Given the description of an element on the screen output the (x, y) to click on. 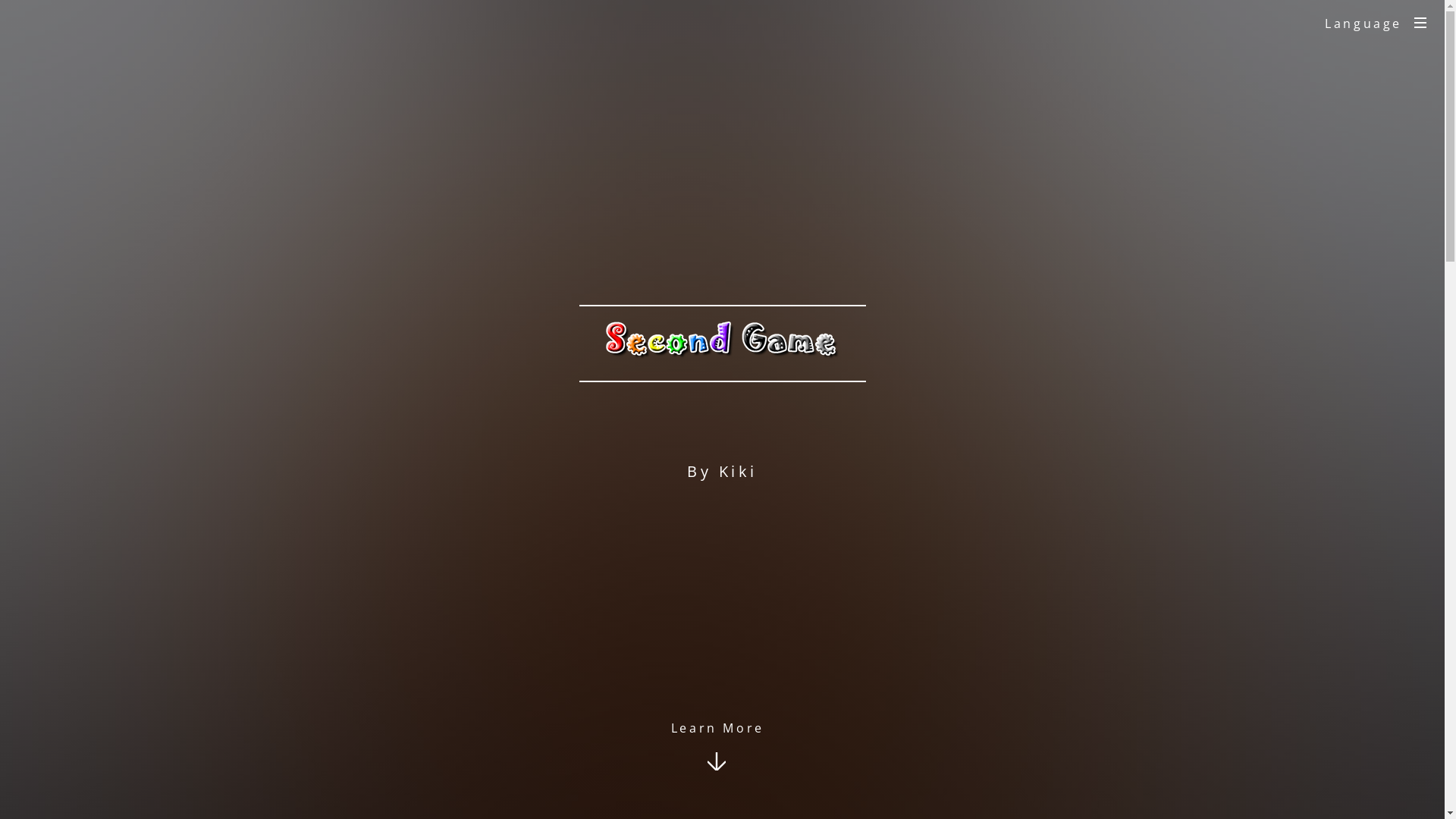
Language Element type: text (1375, 23)
